Given the description of an element on the screen output the (x, y) to click on. 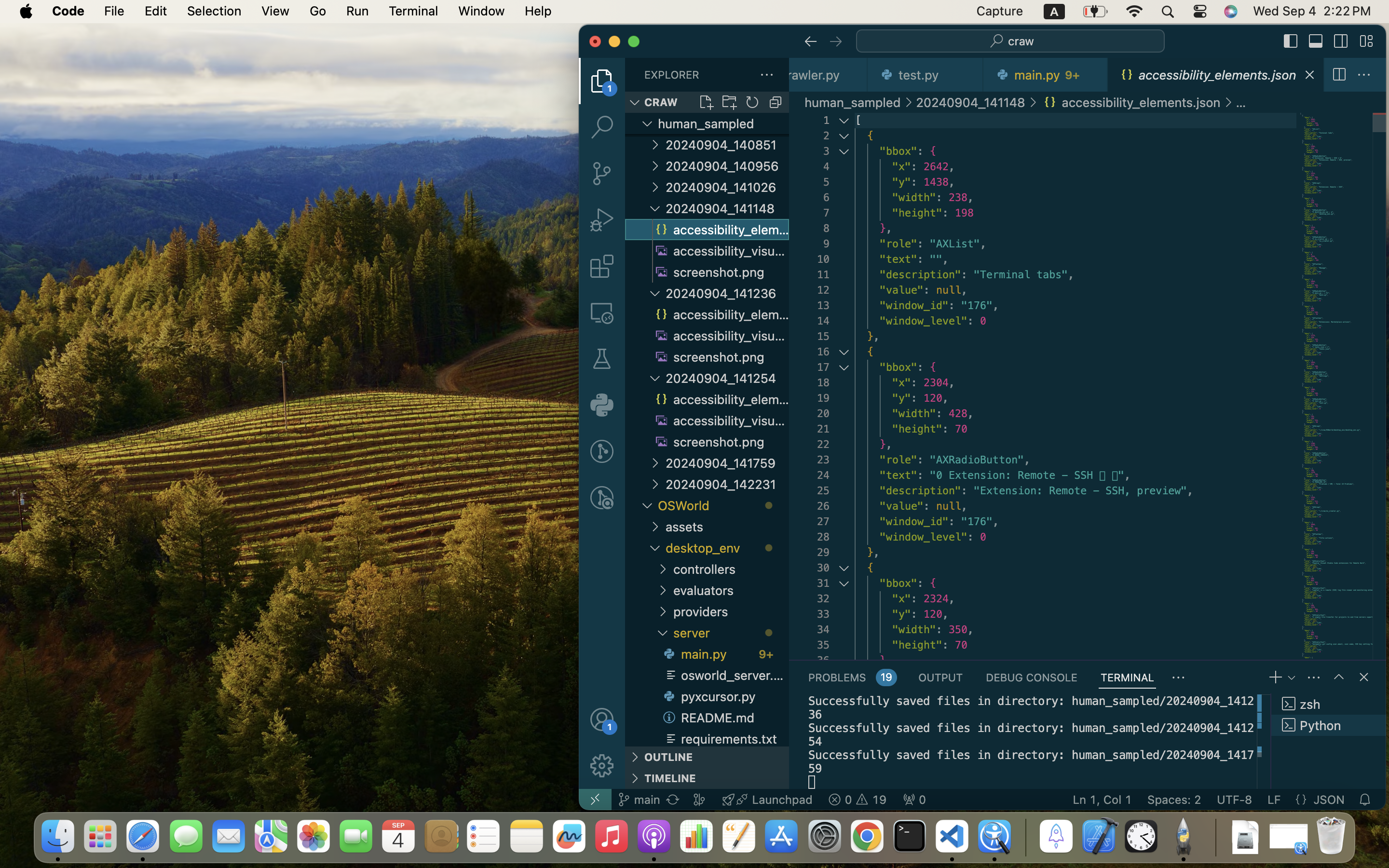
 Element type: AXButton (810, 41)
 Element type: AXButton (1338, 74)
screenshot.png  Element type: AXGroup (720, 271)
server  Element type: AXGroup (731, 632)
CRAW      Element type: AXButton (707, 101)
